Given the description of an element on the screen output the (x, y) to click on. 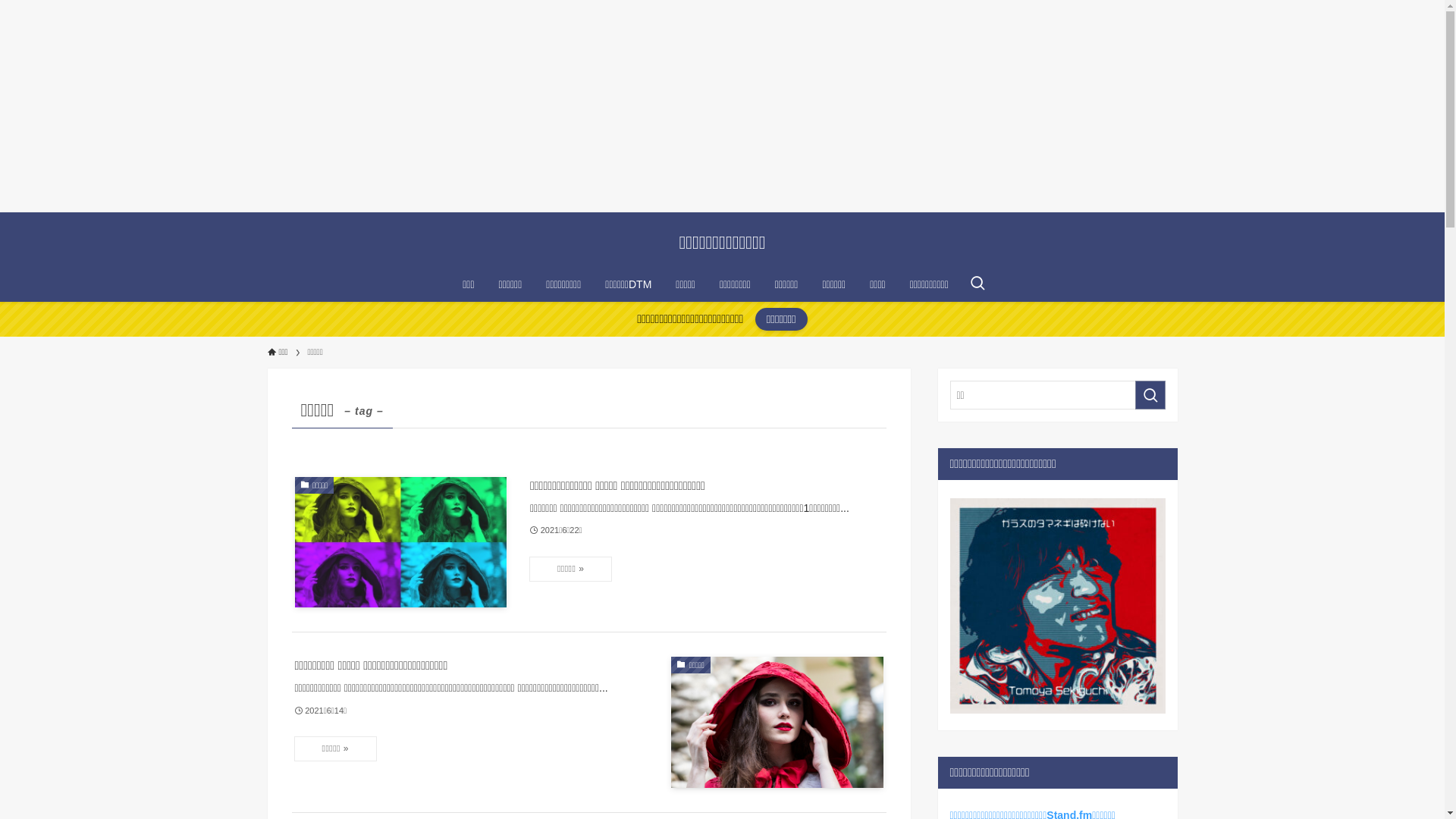
search Element type: text (921, 421)
Advertisement Element type: hover (455, 106)
search Element type: text (1149, 394)
